Given the description of an element on the screen output the (x, y) to click on. 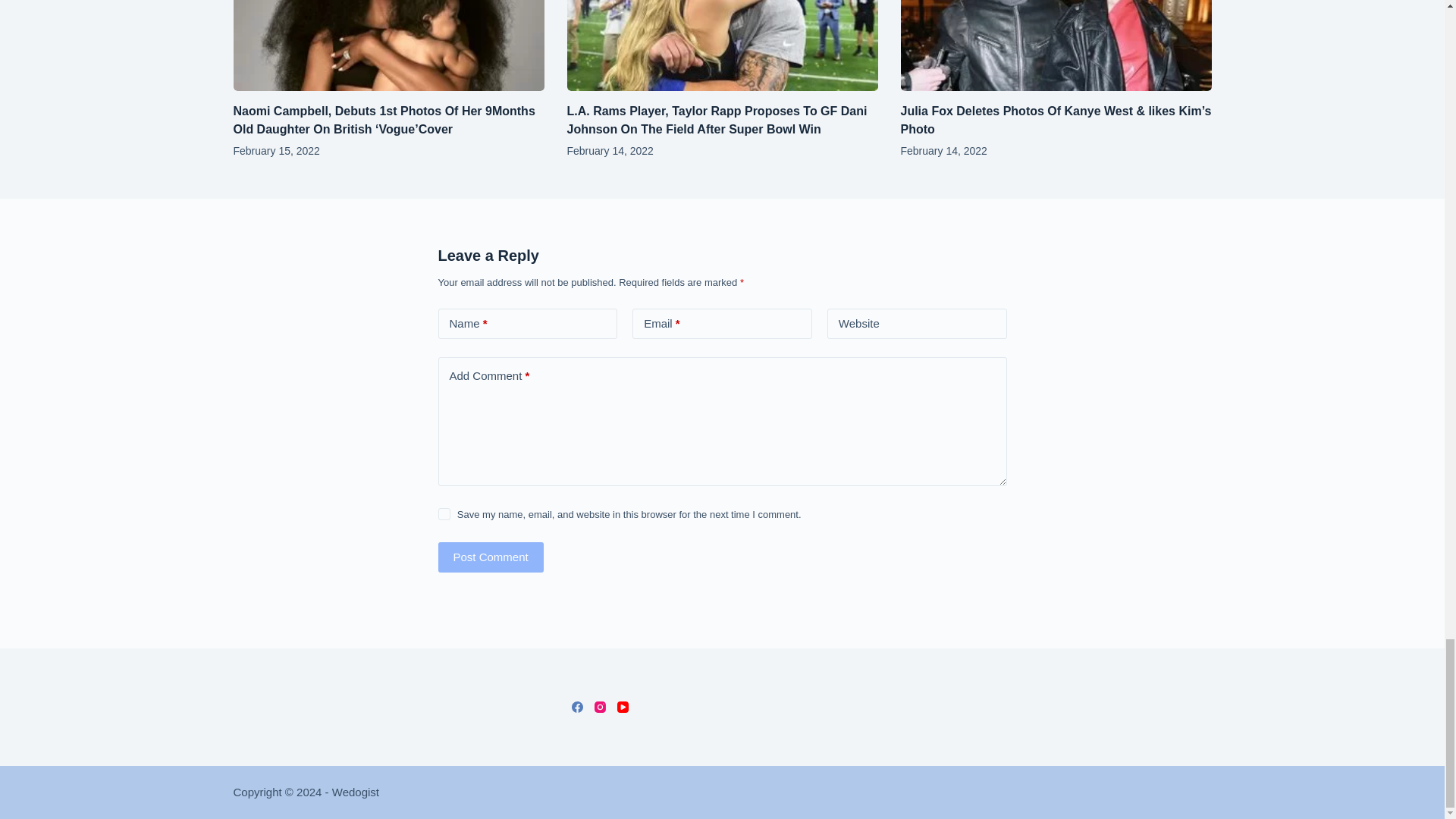
yes (443, 513)
